Given the description of an element on the screen output the (x, y) to click on. 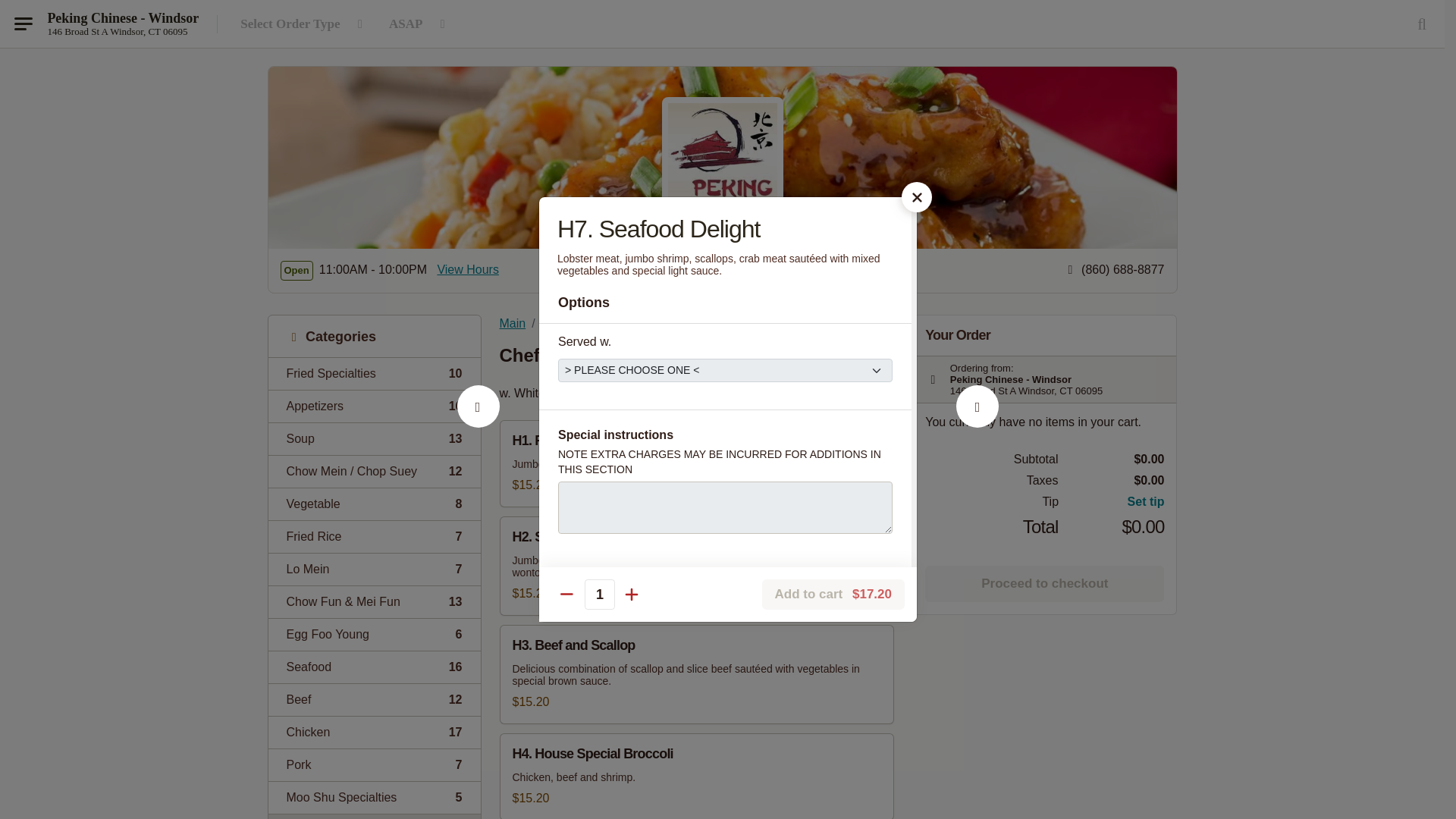
View Hours (467, 270)
Proceed to checkout (1043, 583)
Add tip (373, 666)
Select Order Type (1112, 501)
Delivery Info (373, 699)
Peking Chinese - Windsor (373, 438)
146 Broad St A Windsor, CT 06095 (373, 503)
Menu (373, 568)
Home (303, 23)
